Given the description of an element on the screen output the (x, y) to click on. 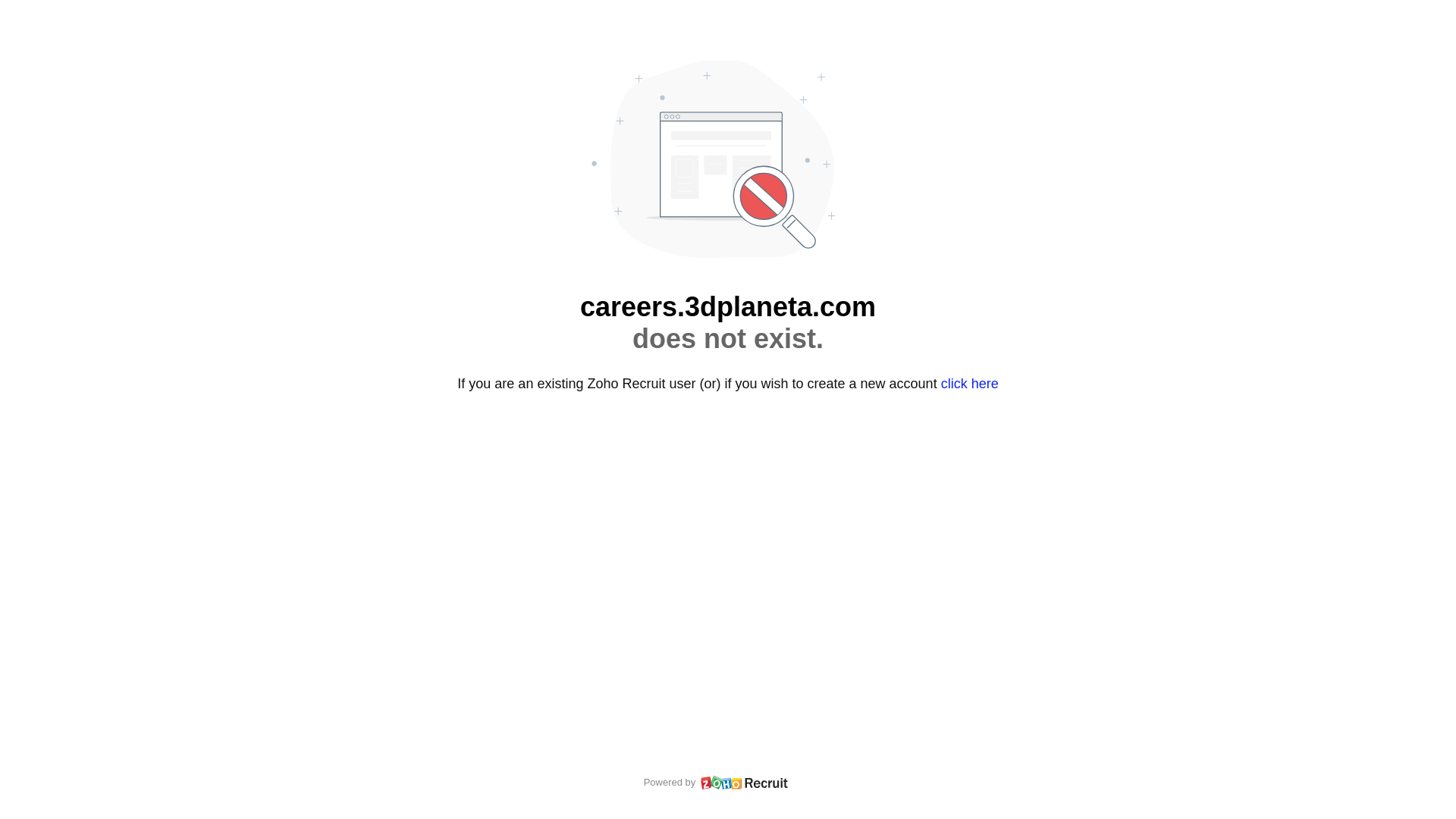
click here Element type: text (969, 383)
